Given the description of an element on the screen output the (x, y) to click on. 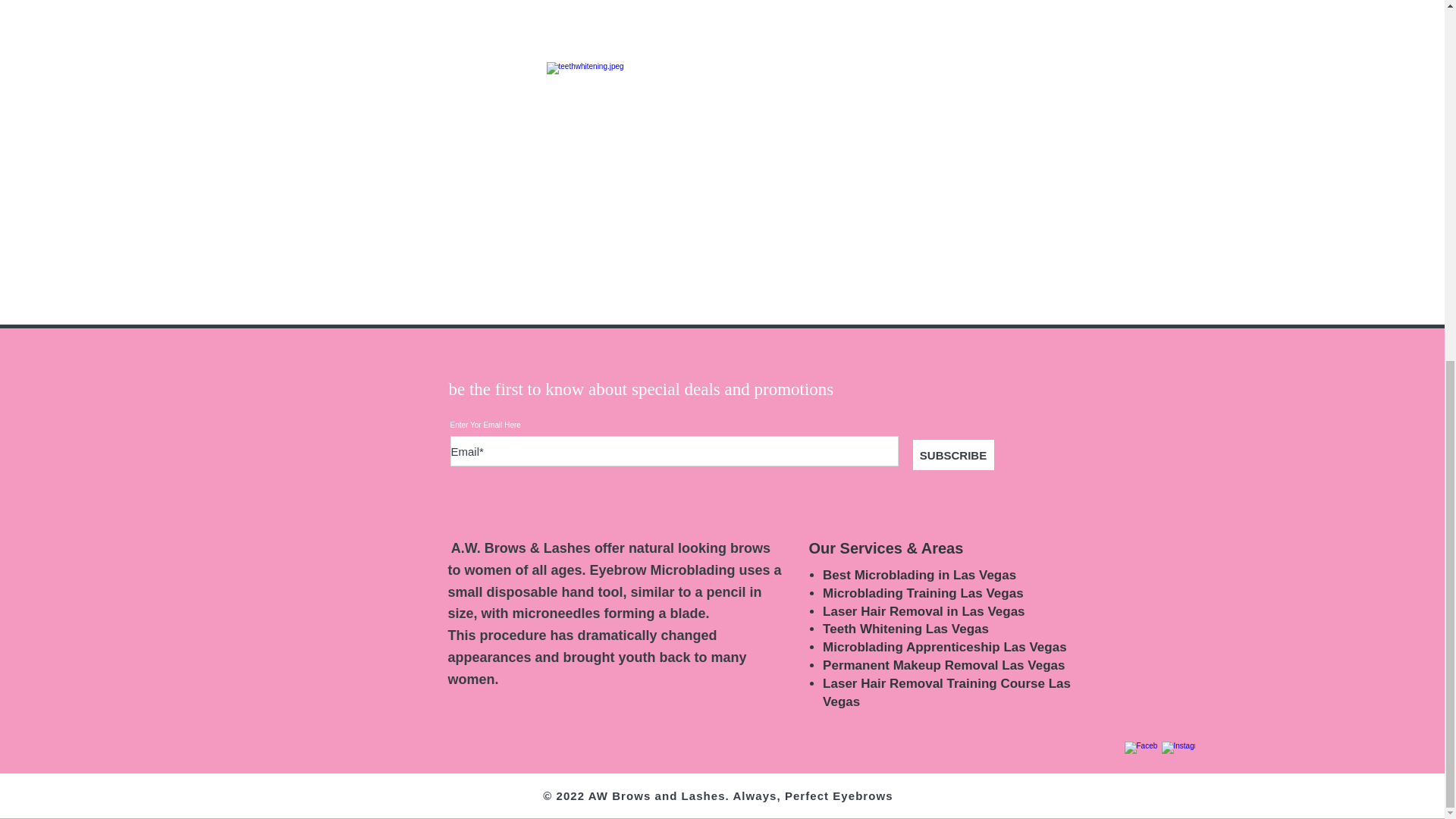
SUBSCRIBE (953, 454)
Best Microblading in Las Vegas (919, 575)
Permanent Makeup Removal Las Vegas (943, 665)
Laser Hair Removal in Las Vegas (923, 611)
Microblading Apprenticeship Las Vegas (944, 646)
Laser Hair Removal Training Course Las Vegas (946, 692)
Microblading Training Las Vegas (922, 593)
Teeth Whitening Las Vegas (905, 628)
